Given the description of an element on the screen output the (x, y) to click on. 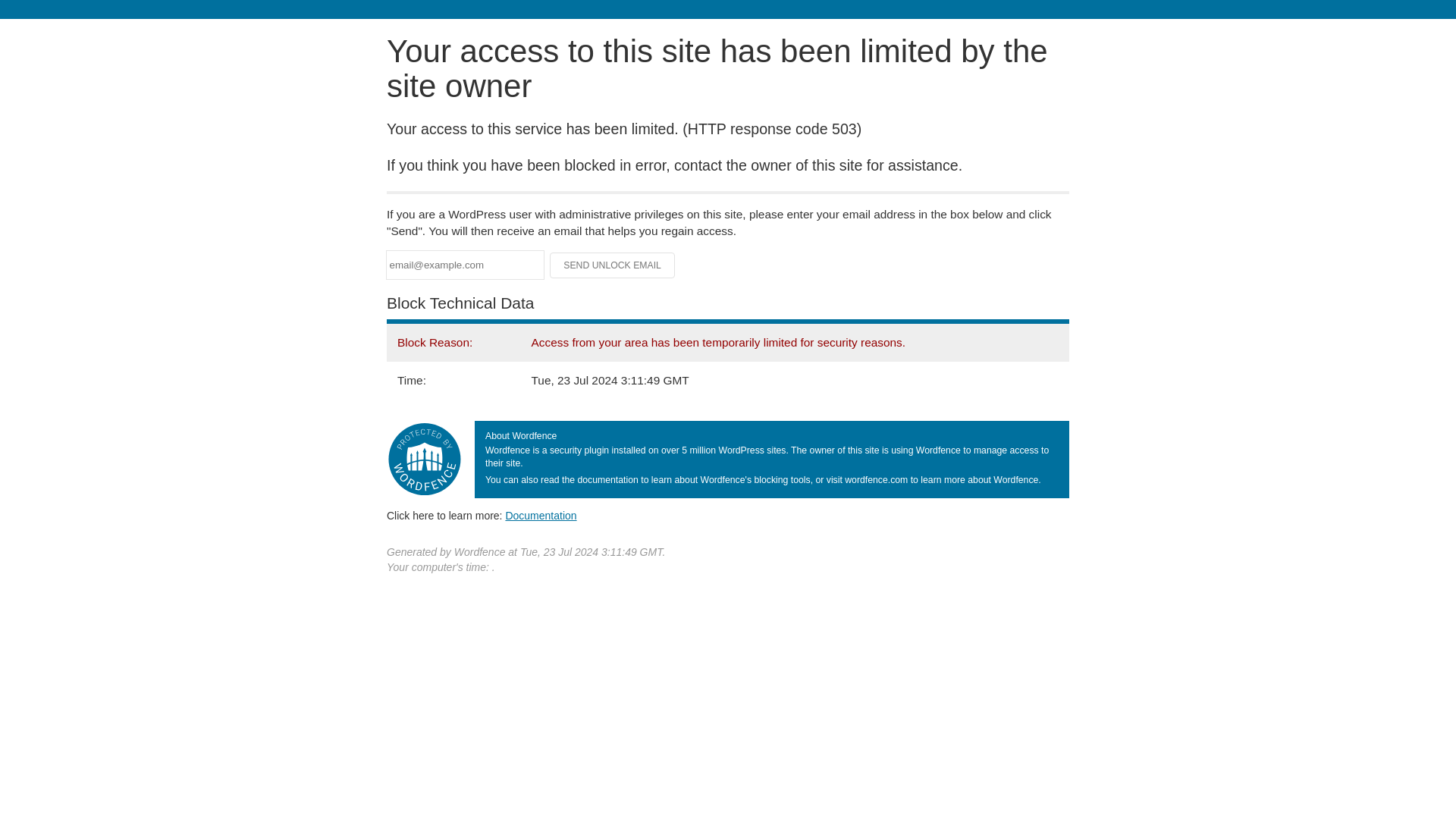
Send Unlock Email (612, 265)
Send Unlock Email (612, 265)
Documentation (540, 515)
